Given the description of an element on the screen output the (x, y) to click on. 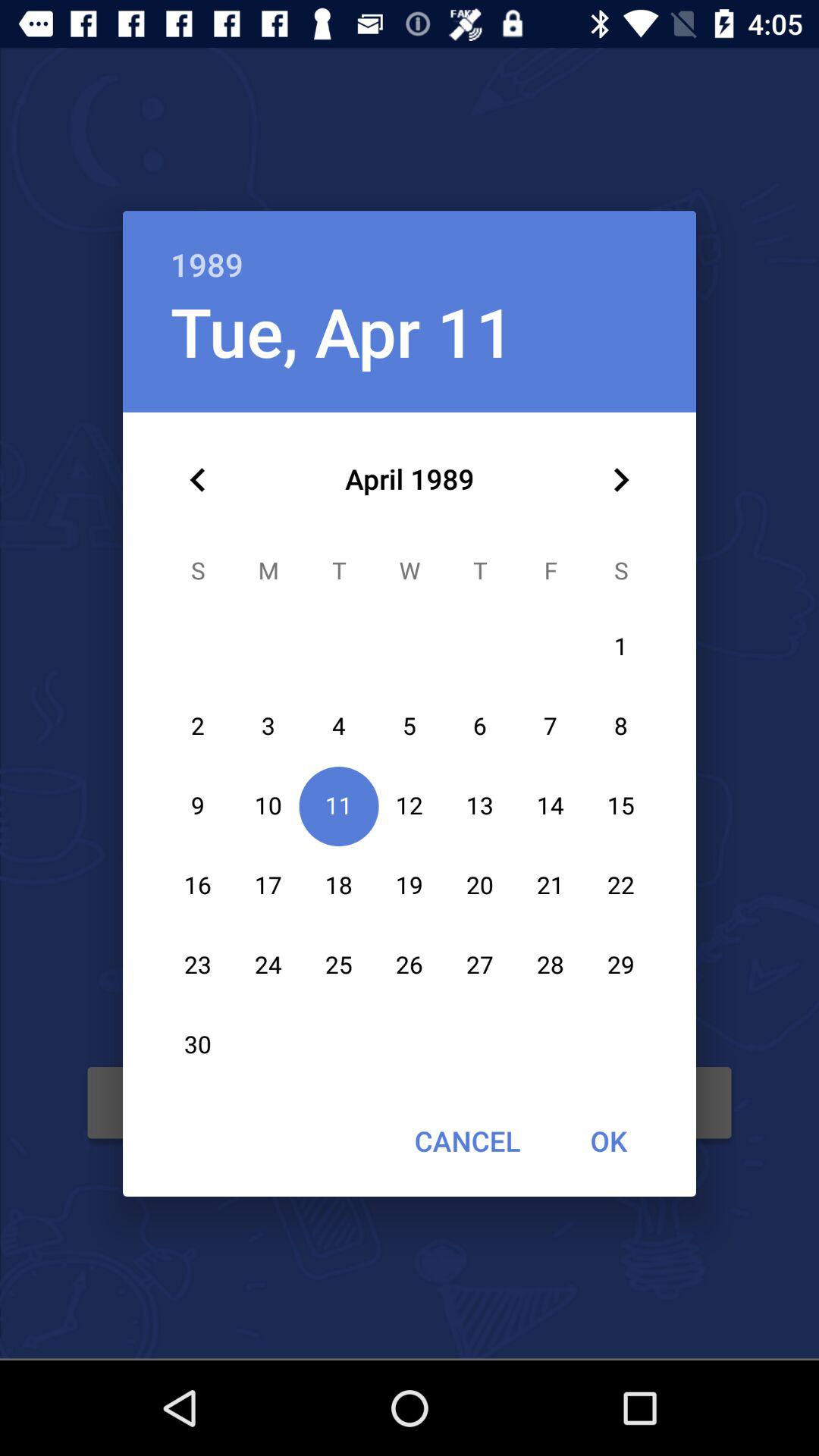
tap tue, apr 11 item (342, 331)
